Given the description of an element on the screen output the (x, y) to click on. 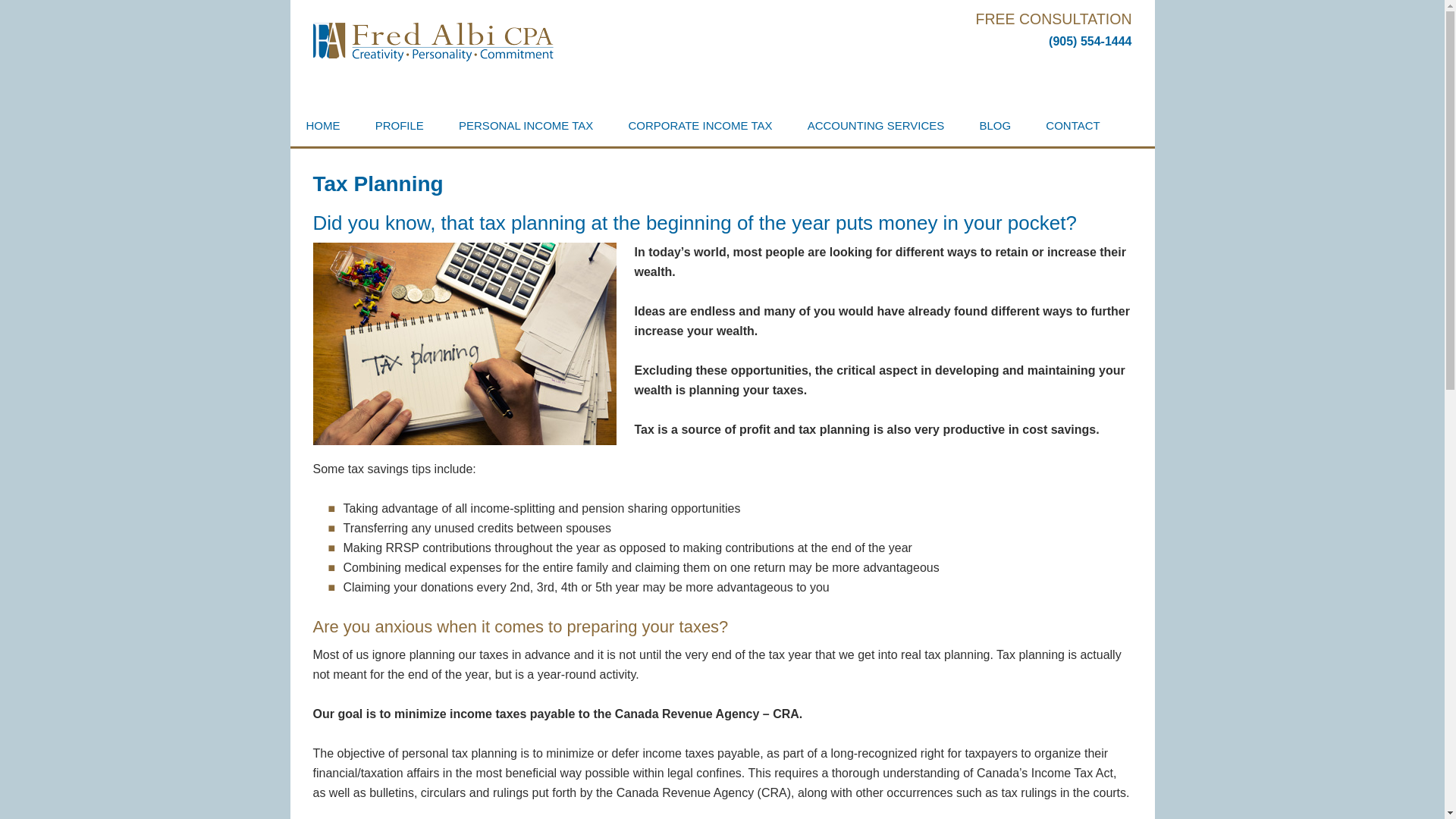
CONTACT (1072, 126)
Fred Albi, CPA (449, 52)
BLOG (994, 126)
CORPORATE INCOME TAX (699, 126)
PROFILE (399, 126)
PERSONAL INCOME TAX (525, 126)
ACCOUNTING SERVICES (876, 126)
HOME (322, 126)
